Given the description of an element on the screen output the (x, y) to click on. 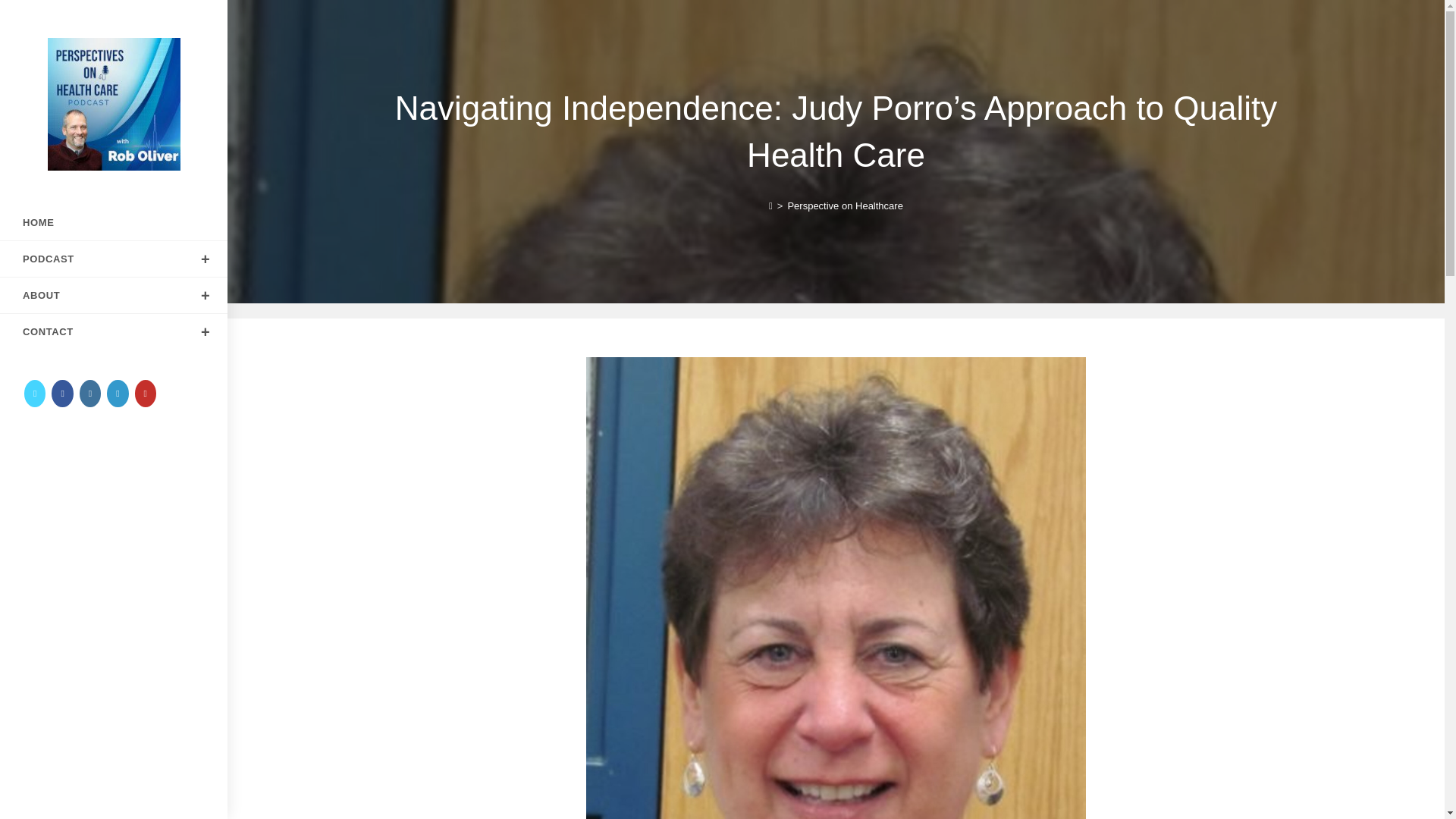
ABOUT (113, 294)
HOME (113, 222)
CONTACT (113, 331)
PODCAST (113, 258)
